Given the description of an element on the screen output the (x, y) to click on. 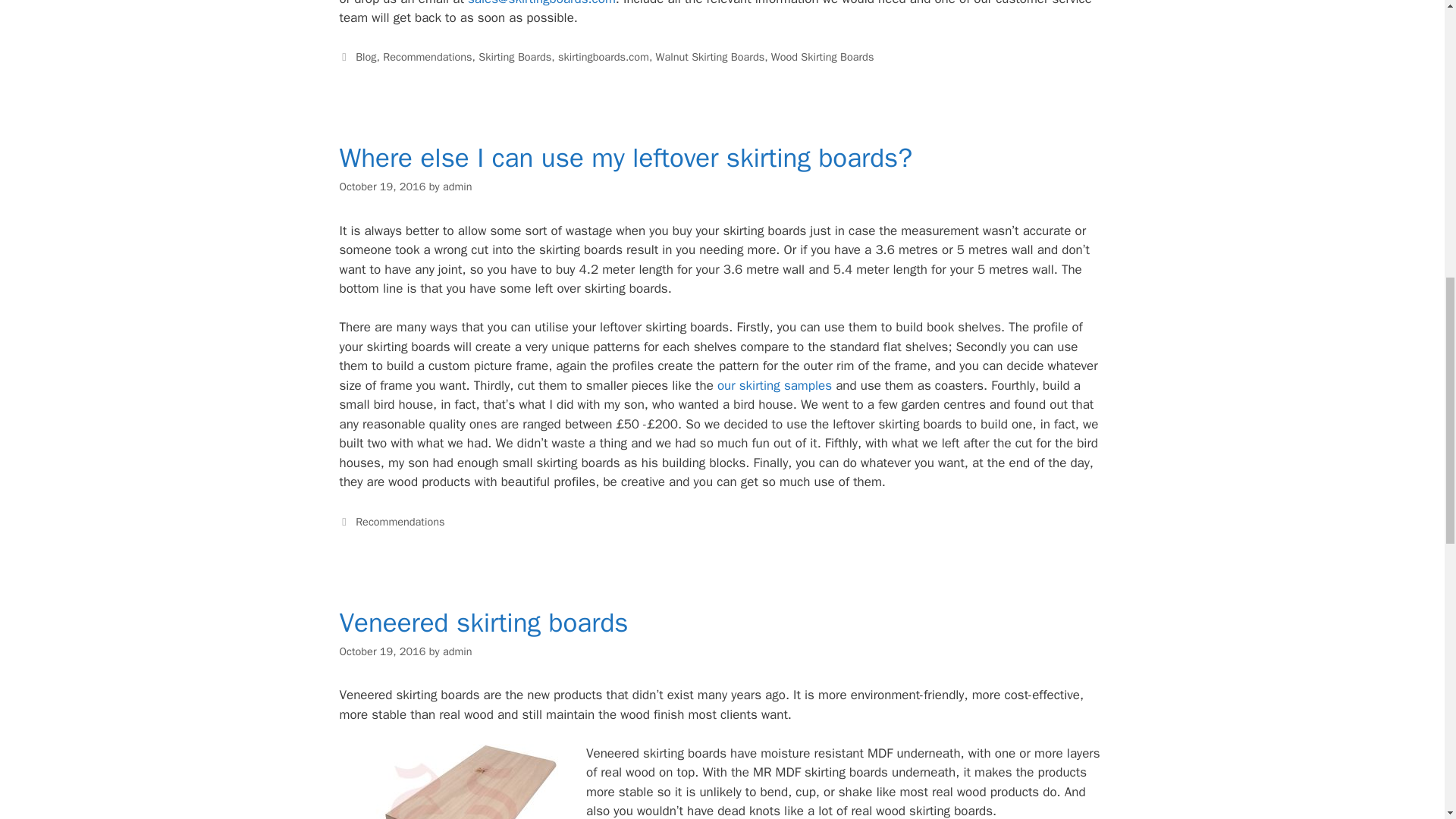
View all posts by admin (456, 186)
Scroll back to top (1406, 720)
View all posts by admin (456, 651)
